Given the description of an element on the screen output the (x, y) to click on. 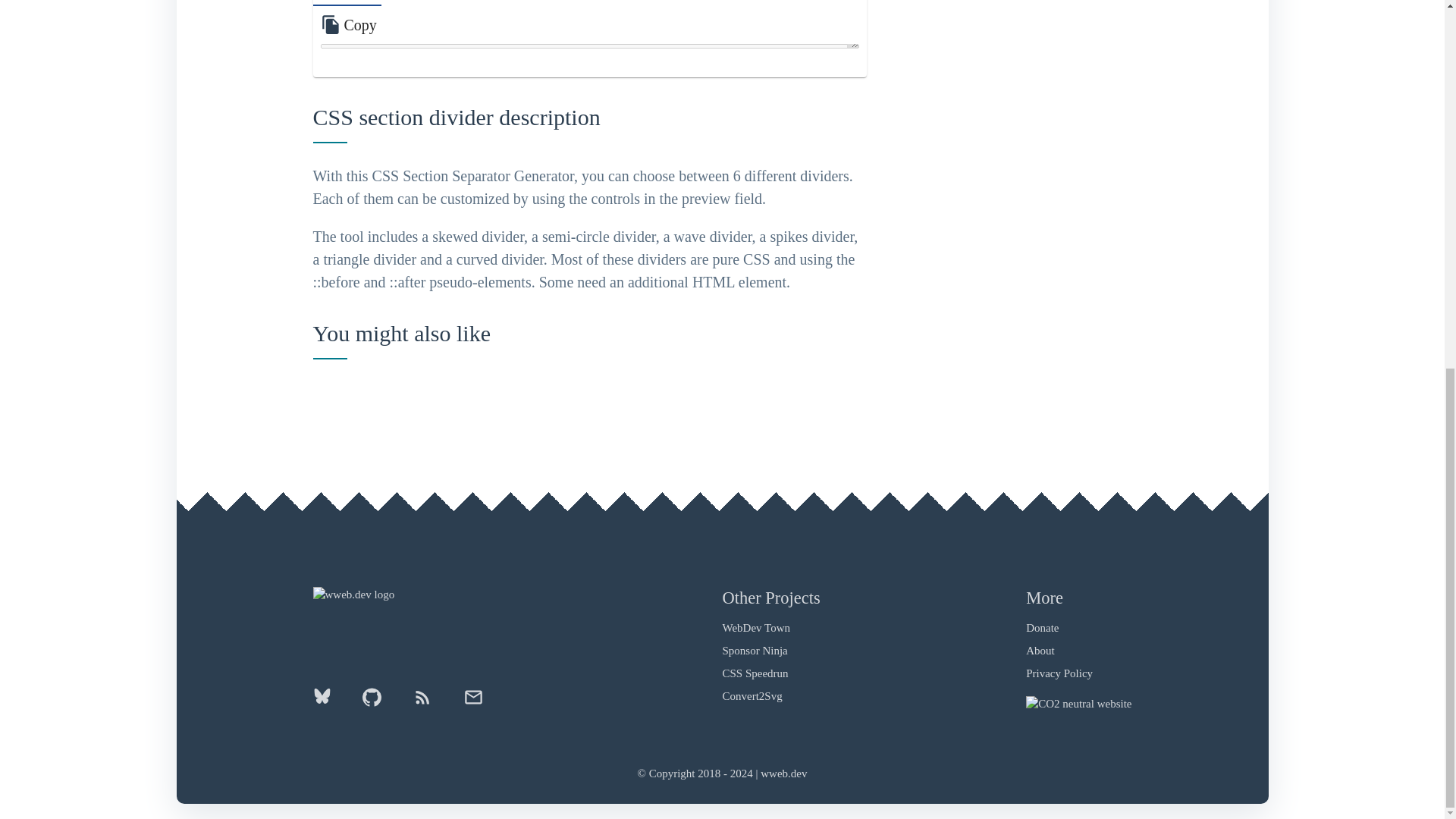
2 (473, 2)
Convert2Svg (751, 695)
WebDev Town (756, 627)
Donate (1042, 627)
CSS (414, 2)
HTML (346, 2)
Sponsor Ninja (754, 650)
RSS Feed (422, 703)
E-Mail (464, 703)
Github (371, 703)
About (1040, 650)
CSS Speedrun (754, 673)
Bluesky (329, 701)
Privacy Policy (1059, 673)
